Given the description of an element on the screen output the (x, y) to click on. 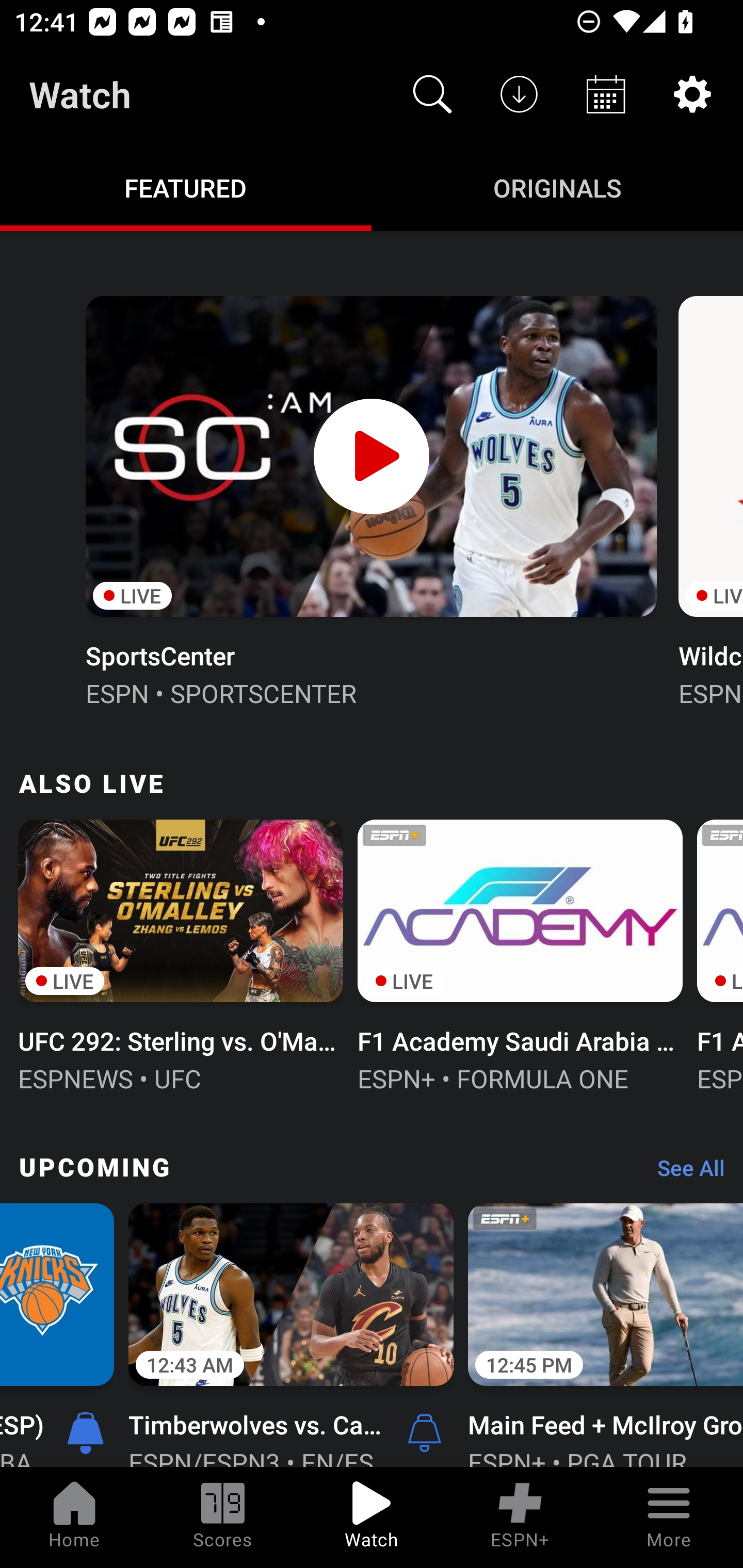
Search (432, 93)
Downloads (518, 93)
Schedule (605, 93)
Settings (692, 93)
Originals ORIGINALS (557, 187)
 LIVE SportsCenter ESPN • SPORTSCENTER (370, 499)
LIVE UFC 292: Sterling vs. O'Malley ESPNEWS • UFC (180, 954)
See All (683, 1172)
Alerts (424, 1432)
Home (74, 1517)
Scores (222, 1517)
ESPN+ (519, 1517)
More (668, 1517)
